Given the description of an element on the screen output the (x, y) to click on. 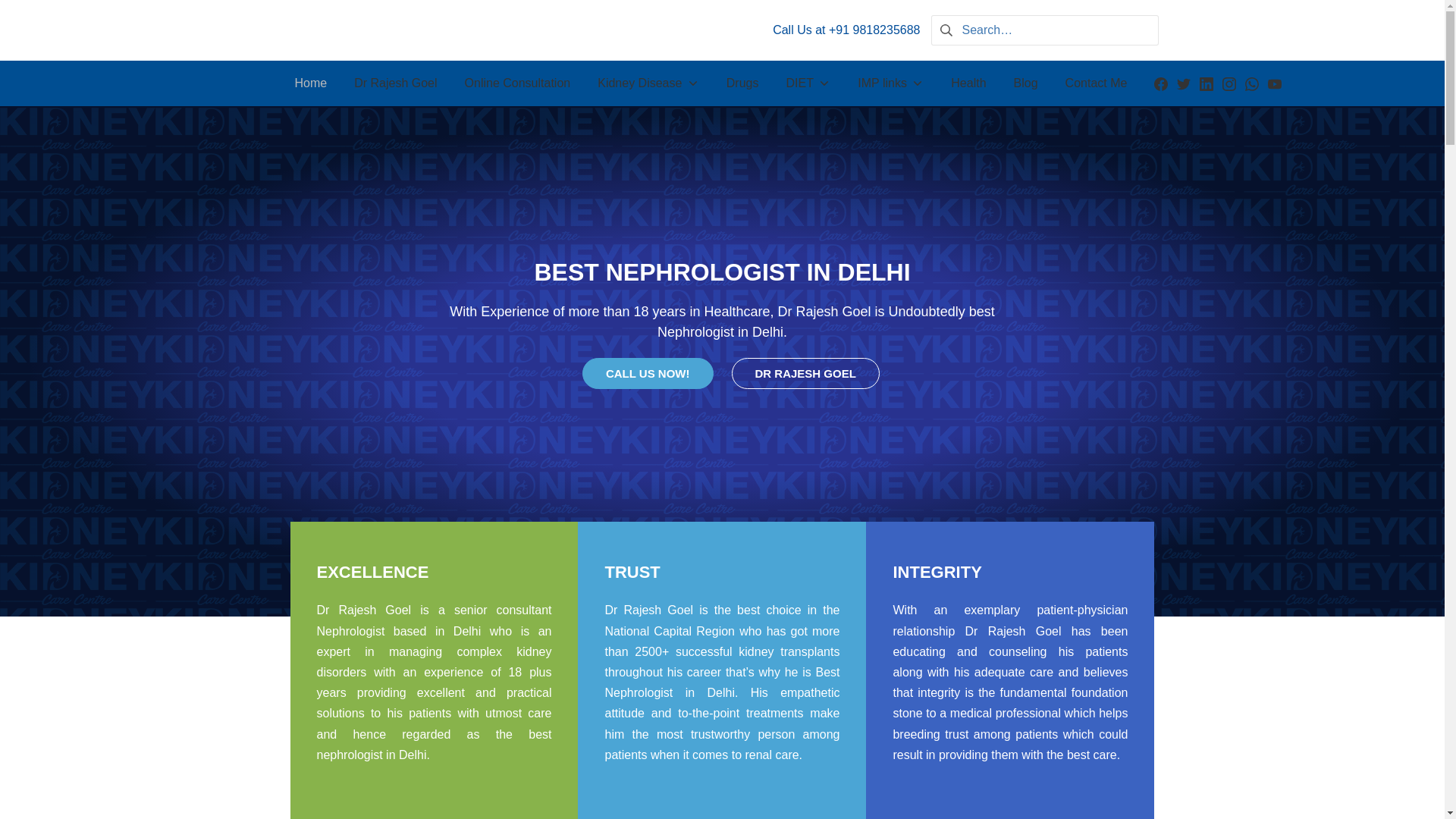
Instagram icon (1229, 83)
LinkedIn (1205, 83)
Instagram (1229, 83)
YouTube icon (1274, 83)
Youtube (1274, 83)
Twitter icon (1183, 83)
Dr Rajesh Goel (394, 83)
Search (35, 15)
Home (310, 83)
Facebook (1160, 83)
WhatsApp (1251, 83)
Twitter (1183, 83)
Online Consultation (518, 83)
Kidney Disease (648, 83)
LinkedIn icon (1205, 83)
